Given the description of an element on the screen output the (x, y) to click on. 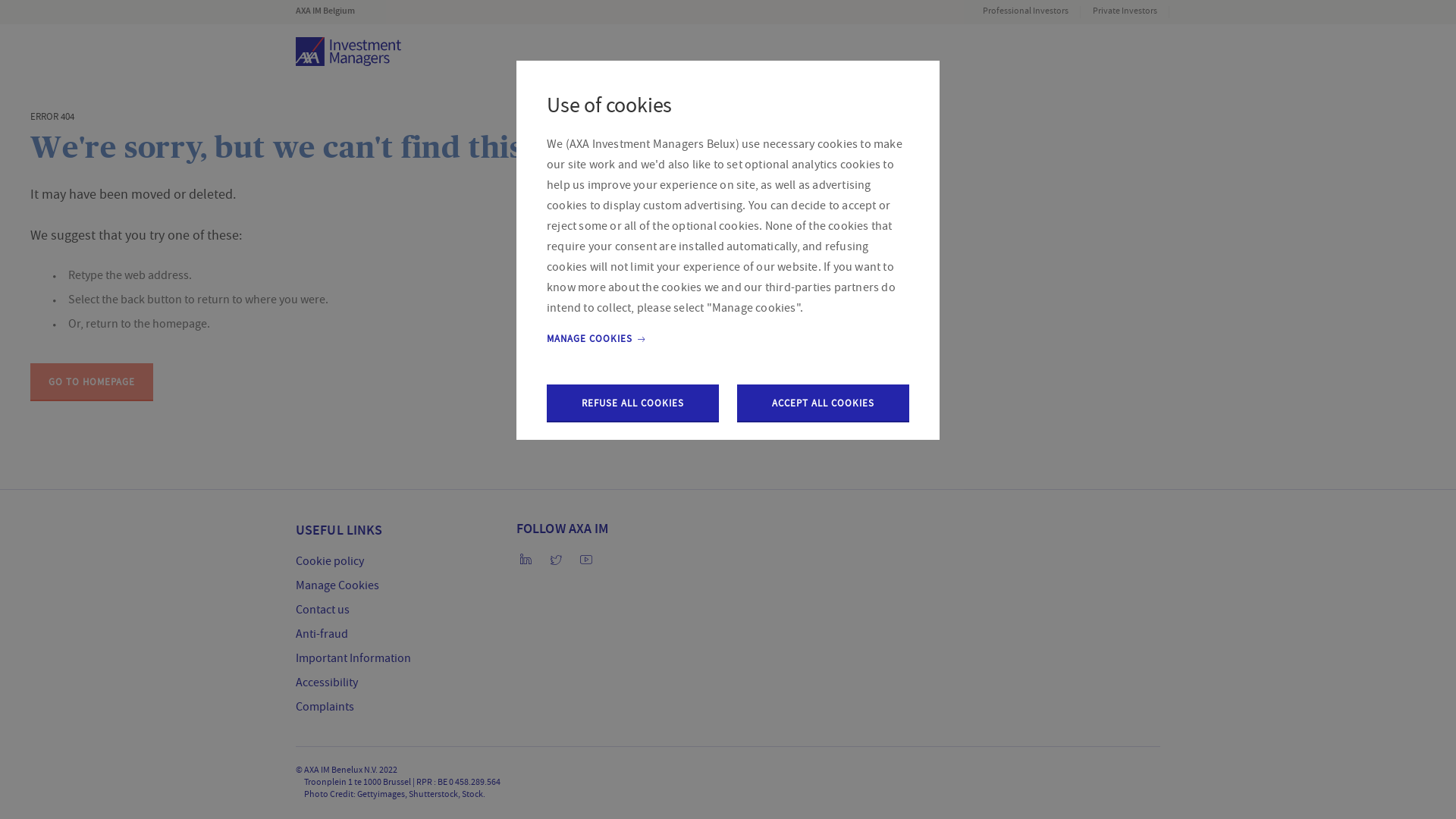
AXA IM Belgium Element type: text (332, 11)
Contact us Element type: text (322, 609)
Private Investors Element type: text (1124, 12)
USEFUL LINKS Element type: text (338, 530)
Professional Investors Element type: text (1025, 12)
Follow on Twitter Element type: text (555, 561)
Accessibility Element type: text (326, 682)
Follow on Youtube Element type: text (586, 561)
Important Information Element type: text (353, 658)
GO TO HOMEPAGE Element type: text (91, 382)
REFUSE ALL COOKIES Element type: text (632, 403)
Complaints Element type: text (324, 706)
ACCEPT ALL COOKIES Element type: text (823, 403)
Follow on LinkedIn Element type: text (525, 561)
Home Element type: hover (348, 51)
Cookie policy Element type: text (329, 561)
Anti-fraud Element type: text (321, 633)
Manage Cookies Element type: text (337, 585)
MANAGE COOKIES Element type: text (596, 338)
